Given the description of an element on the screen output the (x, y) to click on. 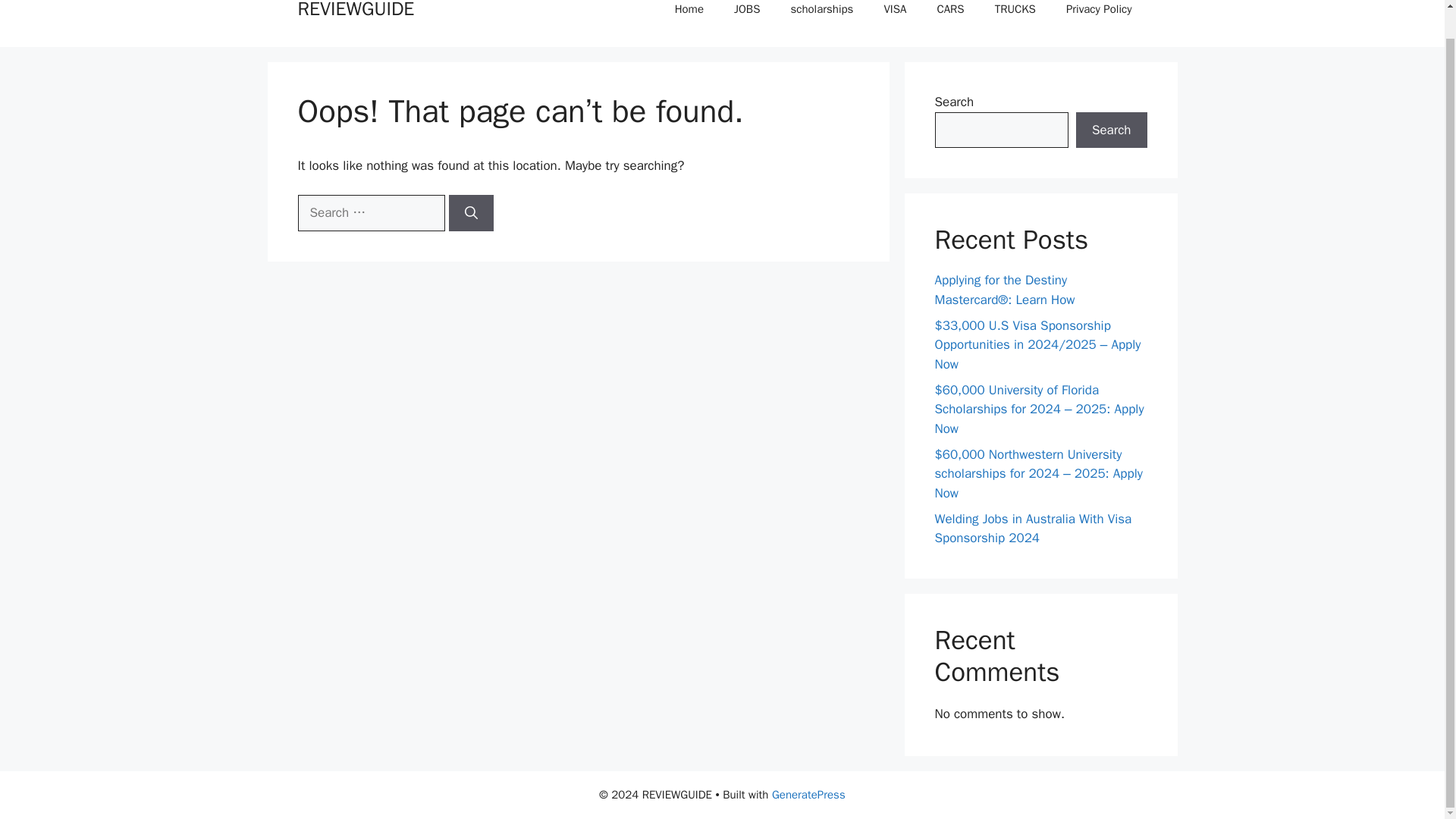
Search for: (370, 212)
scholarships (820, 15)
REVIEWGUIDE (355, 10)
Search (1111, 130)
Privacy Policy (1099, 15)
JOBS (746, 15)
GeneratePress (808, 794)
Welding Jobs in Australia With Visa Sponsorship 2024 (1032, 529)
TRUCKS (1015, 15)
VISA (894, 15)
Home (689, 15)
CARS (949, 15)
